Given the description of an element on the screen output the (x, y) to click on. 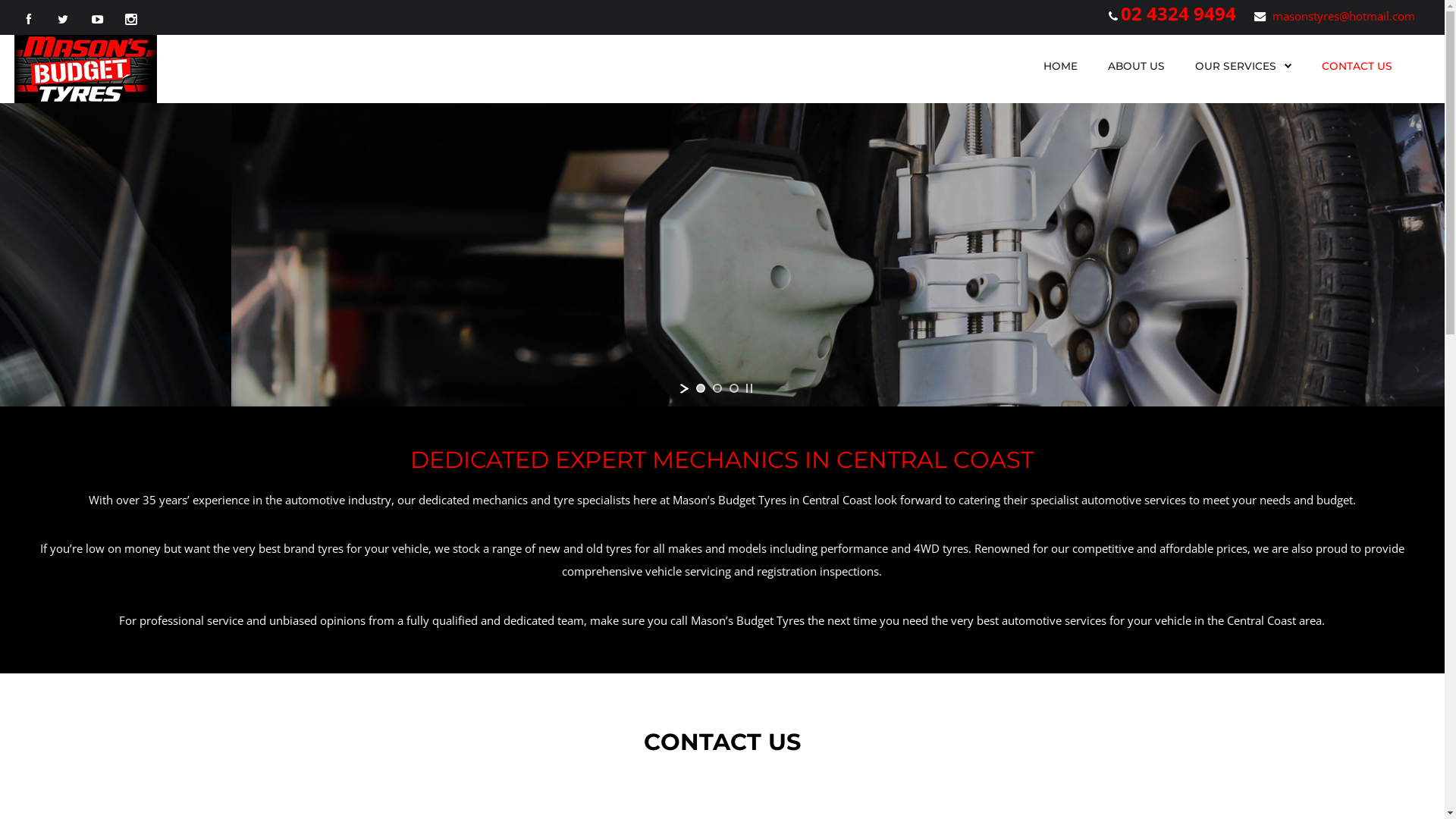
02 4324 9494 Element type: text (1178, 12)
OUR SERVICES Element type: text (1235, 65)
masonstyres@hotmail.com Element type: text (1343, 15)
HOME Element type: text (1060, 65)
ABOUT US Element type: text (1135, 65)
HOME Element type: text (1060, 65)
CONTACT US Element type: text (1356, 65)
OUR SERVICES Element type: text (1243, 65)
ABOUT US Element type: text (1135, 65)
CONTACT US Element type: text (1356, 65)
